Given the description of an element on the screen output the (x, y) to click on. 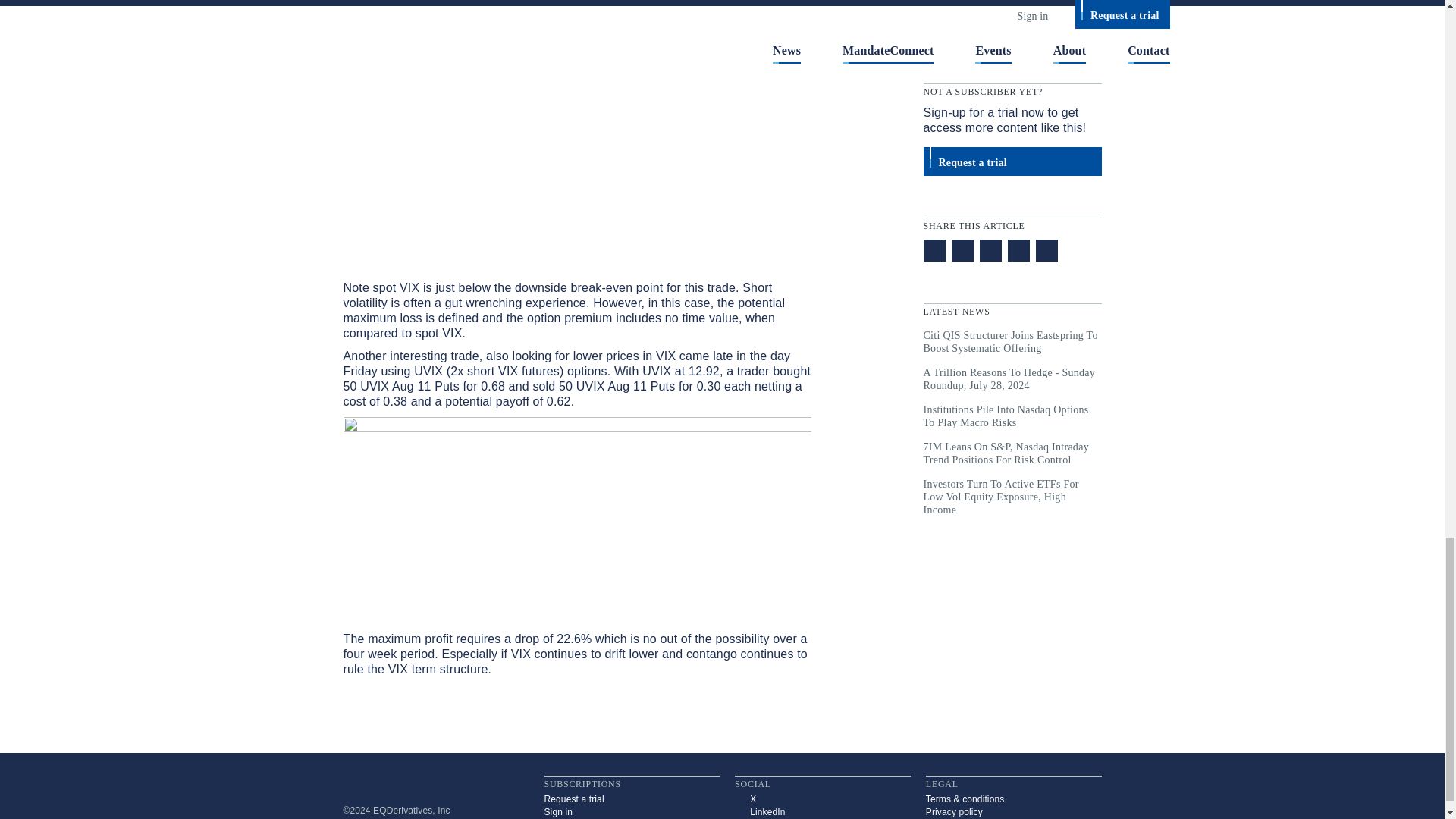
Privacy policy (1014, 811)
X (823, 798)
Request a trial (632, 798)
Sign in (632, 811)
LinkedIn (823, 811)
